Given the description of an element on the screen output the (x, y) to click on. 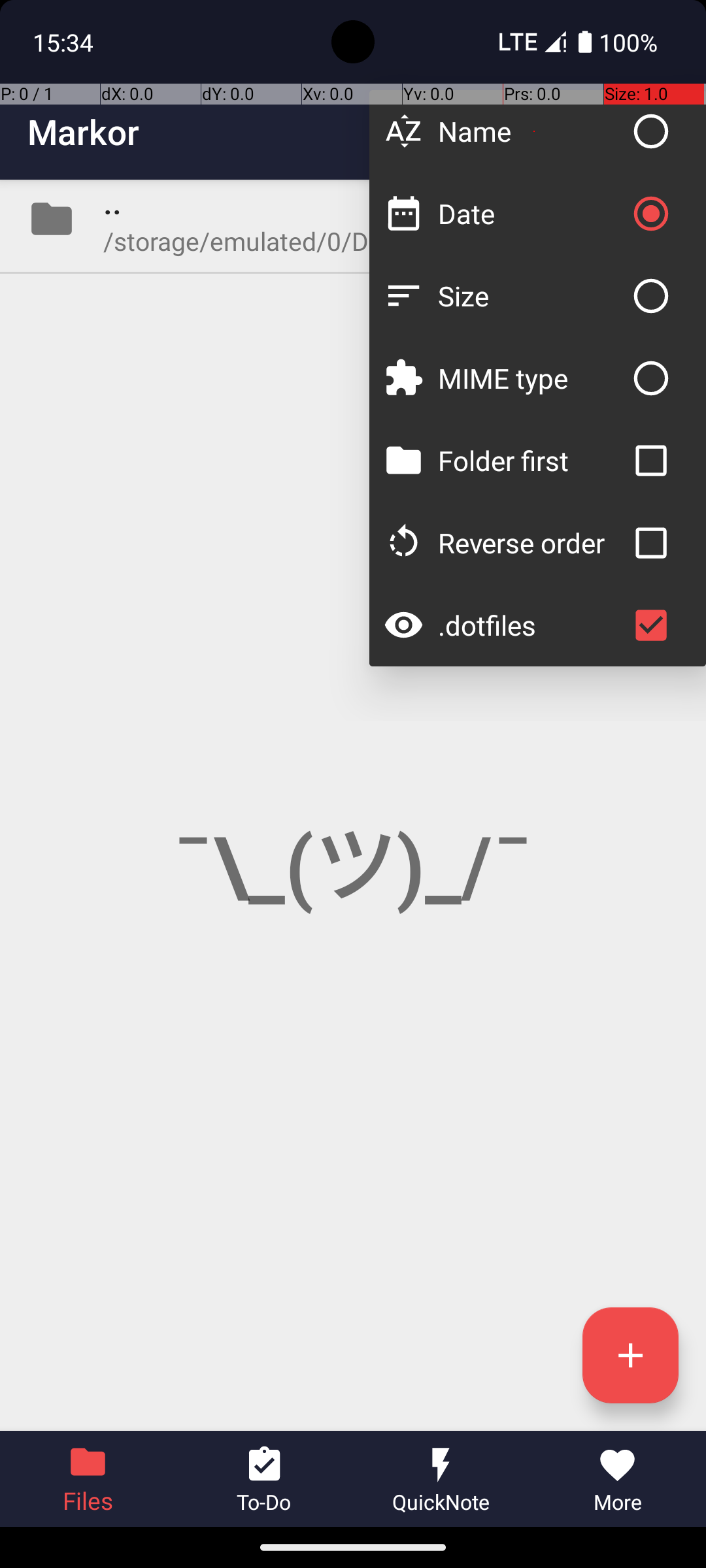
Size Element type: android.widget.TextView (530, 295)
MIME type Element type: android.widget.TextView (530, 377)
Folder first Element type: android.widget.TextView (530, 459)
Reverse order Element type: android.widget.TextView (530, 542)
.dotfiles Element type: android.widget.TextView (530, 624)
